Given the description of an element on the screen output the (x, y) to click on. 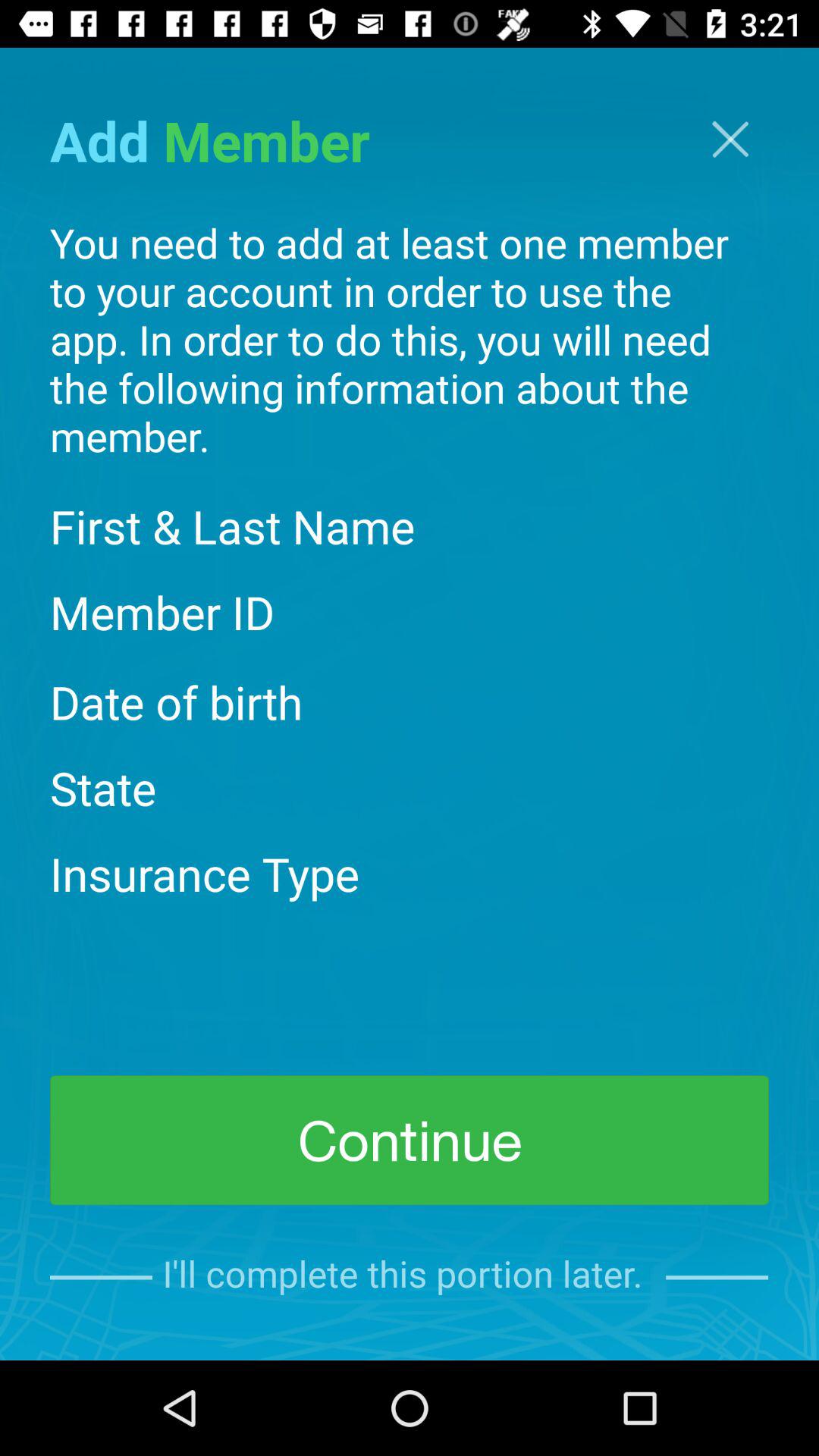
scroll until i ll complete icon (409, 1277)
